Given the description of an element on the screen output the (x, y) to click on. 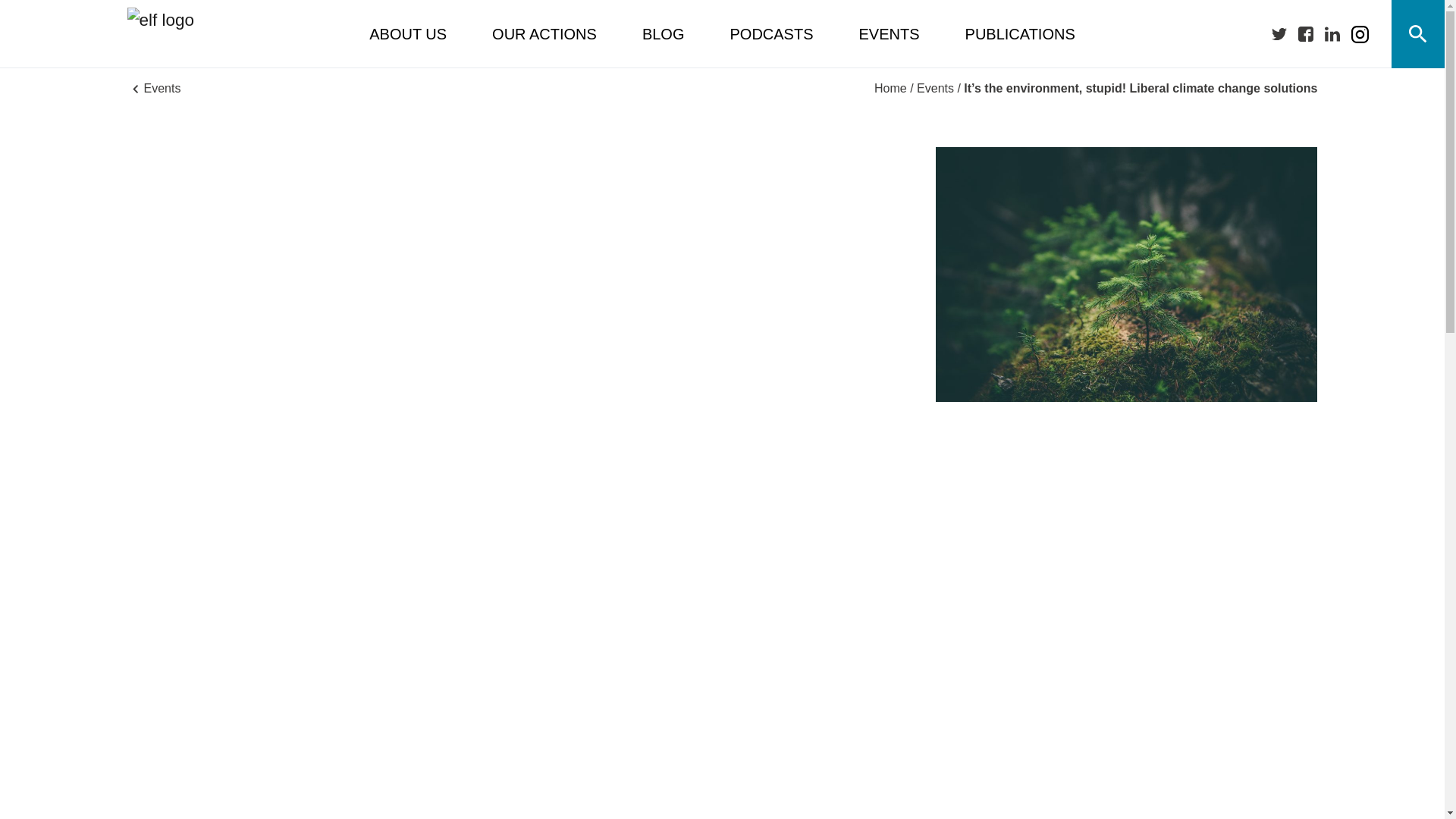
PODCASTS (770, 33)
EVENTS (889, 33)
OUR ACTIONS (544, 33)
BLOG (663, 33)
PUBLICATIONS (1020, 33)
ABOUT US (407, 33)
